Given the description of an element on the screen output the (x, y) to click on. 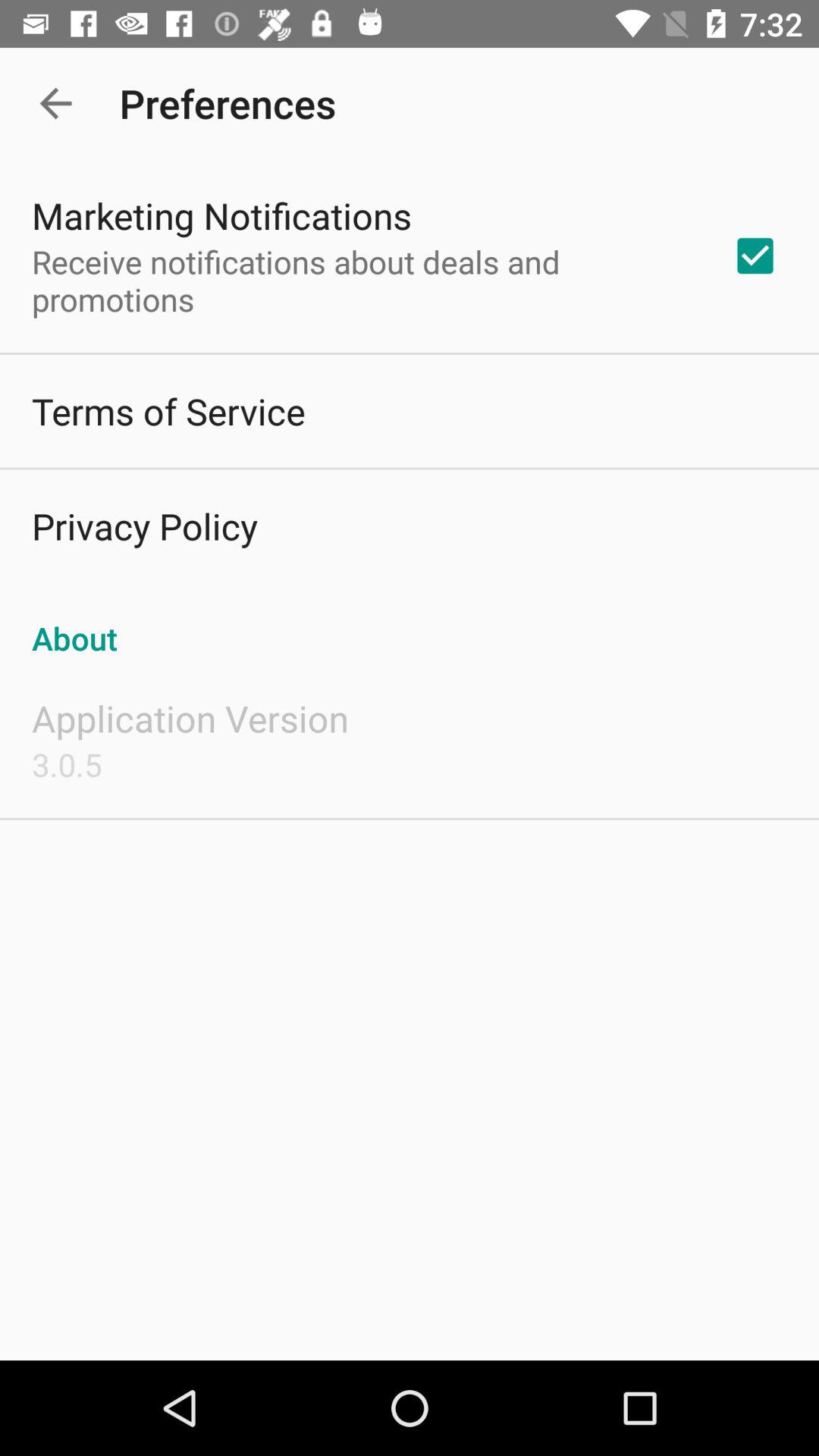
open item above about app (755, 255)
